Given the description of an element on the screen output the (x, y) to click on. 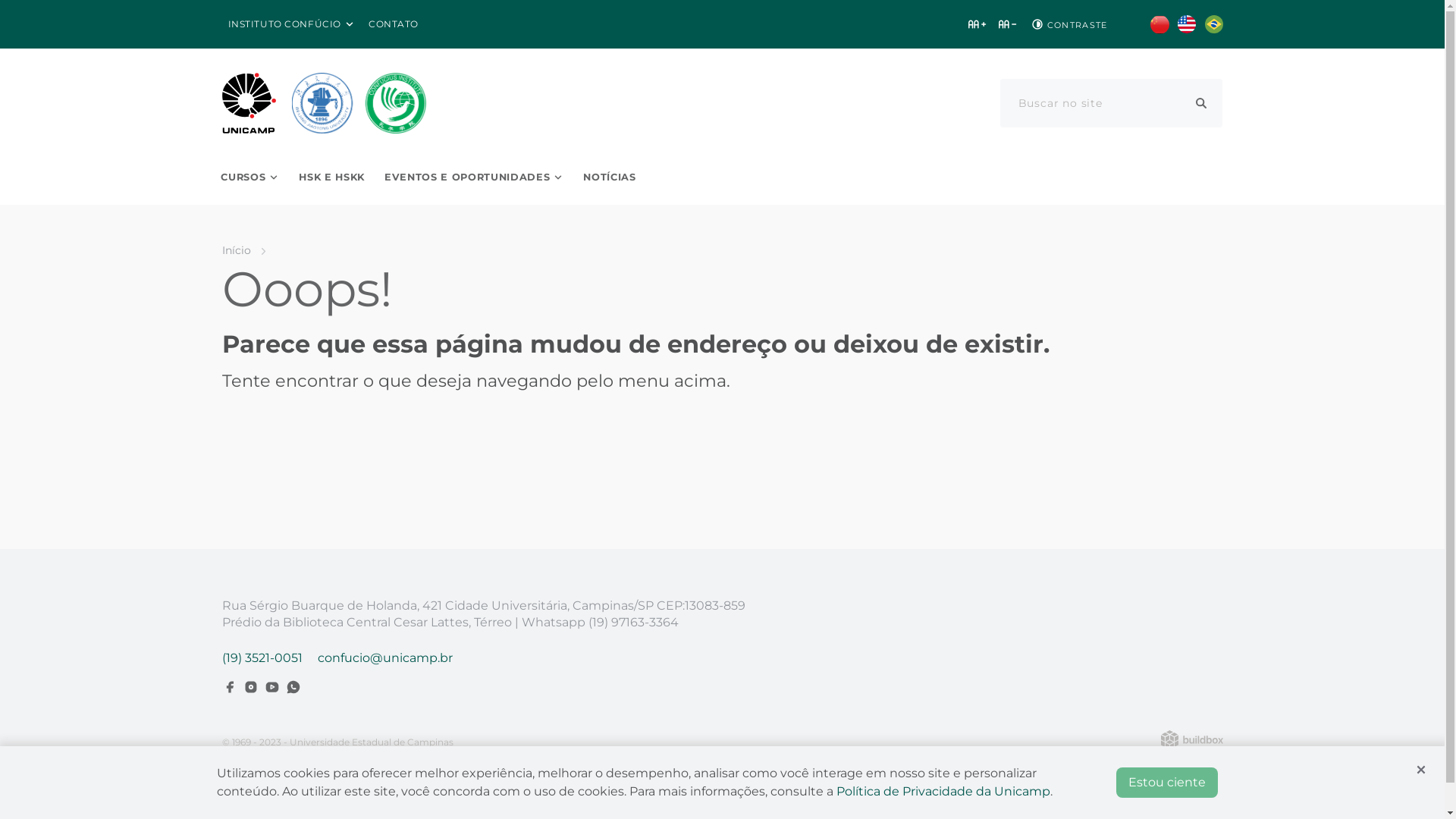
Link para o Facebook Element type: text (228, 686)
Link para o Youtube Element type: text (271, 686)
CONTRASTE Element type: text (1067, 24)
English Element type: hover (1185, 24)
CONTATO Element type: text (393, 24)
Link para o Whatsapp Element type: text (292, 686)
CURSOS Element type: text (249, 177)
Estou ciente Element type: text (1166, 782)
Fechar Element type: text (1420, 769)
Chinese (Simplified) Element type: hover (1158, 24)
Aumentar fonte Element type: text (976, 24)
EVENTOS E OPORTUNIDADES Element type: text (473, 177)
Diminuir fonte Element type: text (1006, 24)
Buscar Element type: text (1201, 103)
Link para o Instagram Element type: text (249, 686)
confucio@unicamp.br Element type: text (383, 657)
Portuguese Element type: hover (1213, 24)
HSK E HSKK Element type: text (331, 177)
(19) 3521-0051 Element type: text (261, 657)
